Given the description of an element on the screen output the (x, y) to click on. 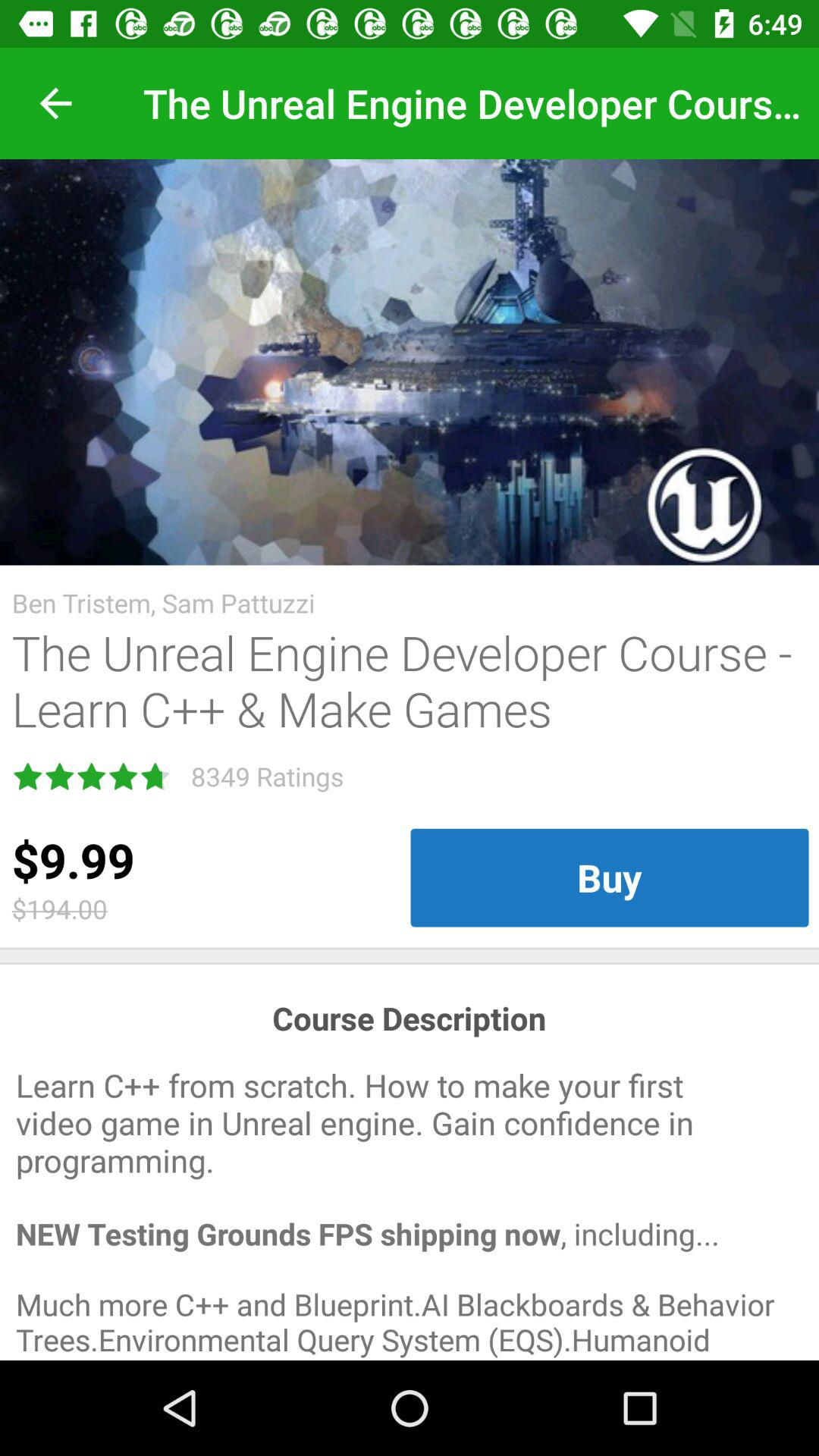
select the item on the right (609, 877)
